Given the description of an element on the screen output the (x, y) to click on. 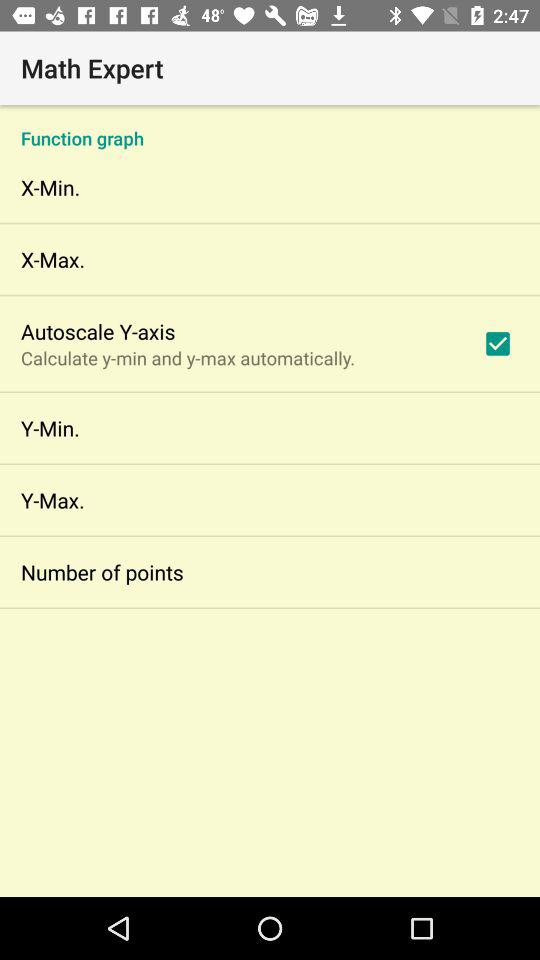
turn off the app below y-max. (102, 572)
